Given the description of an element on the screen output the (x, y) to click on. 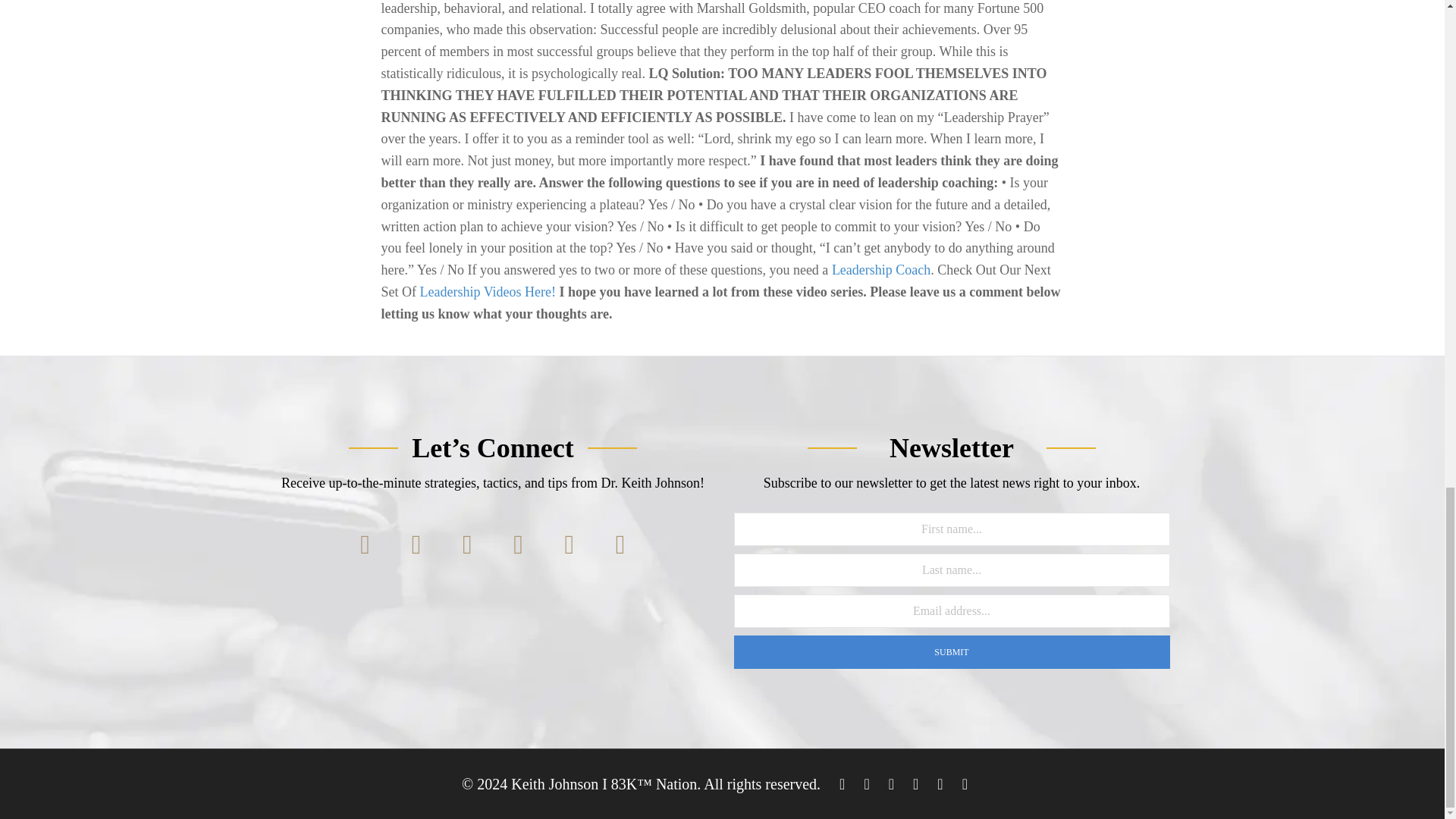
Leadership Videos Here! (488, 291)
SUBMIT (951, 652)
Leadership Coach (880, 269)
Leadership Videos Here! (488, 291)
